Given the description of an element on the screen output the (x, y) to click on. 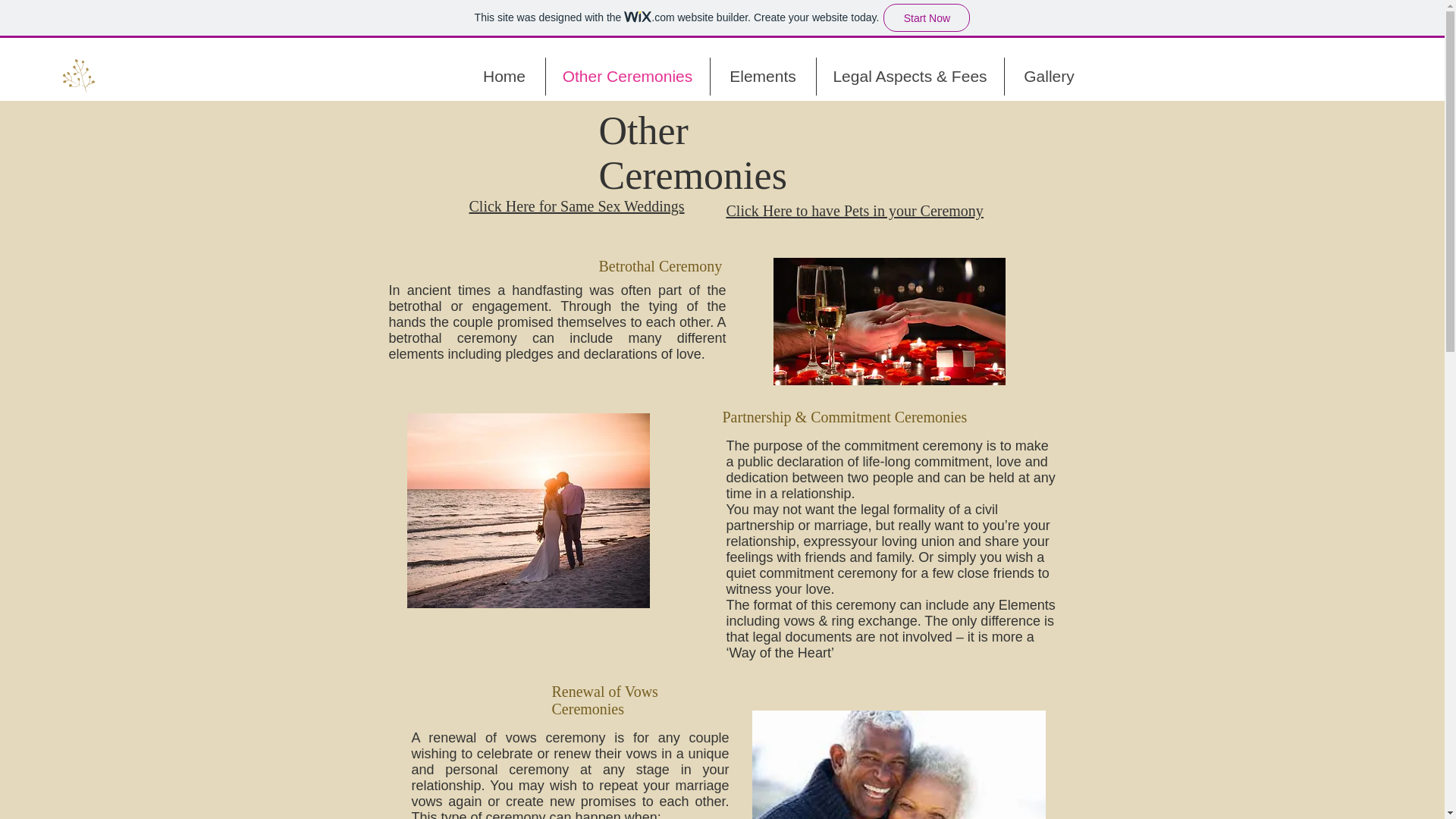
Log In (512, 76)
Click Here to have Pets in your Ceremony (855, 210)
Other Ceremonies (628, 76)
Click Here for Same Sex Weddings (576, 206)
Elements (762, 76)
Gallery (1048, 76)
Home (504, 76)
